Given the description of an element on the screen output the (x, y) to click on. 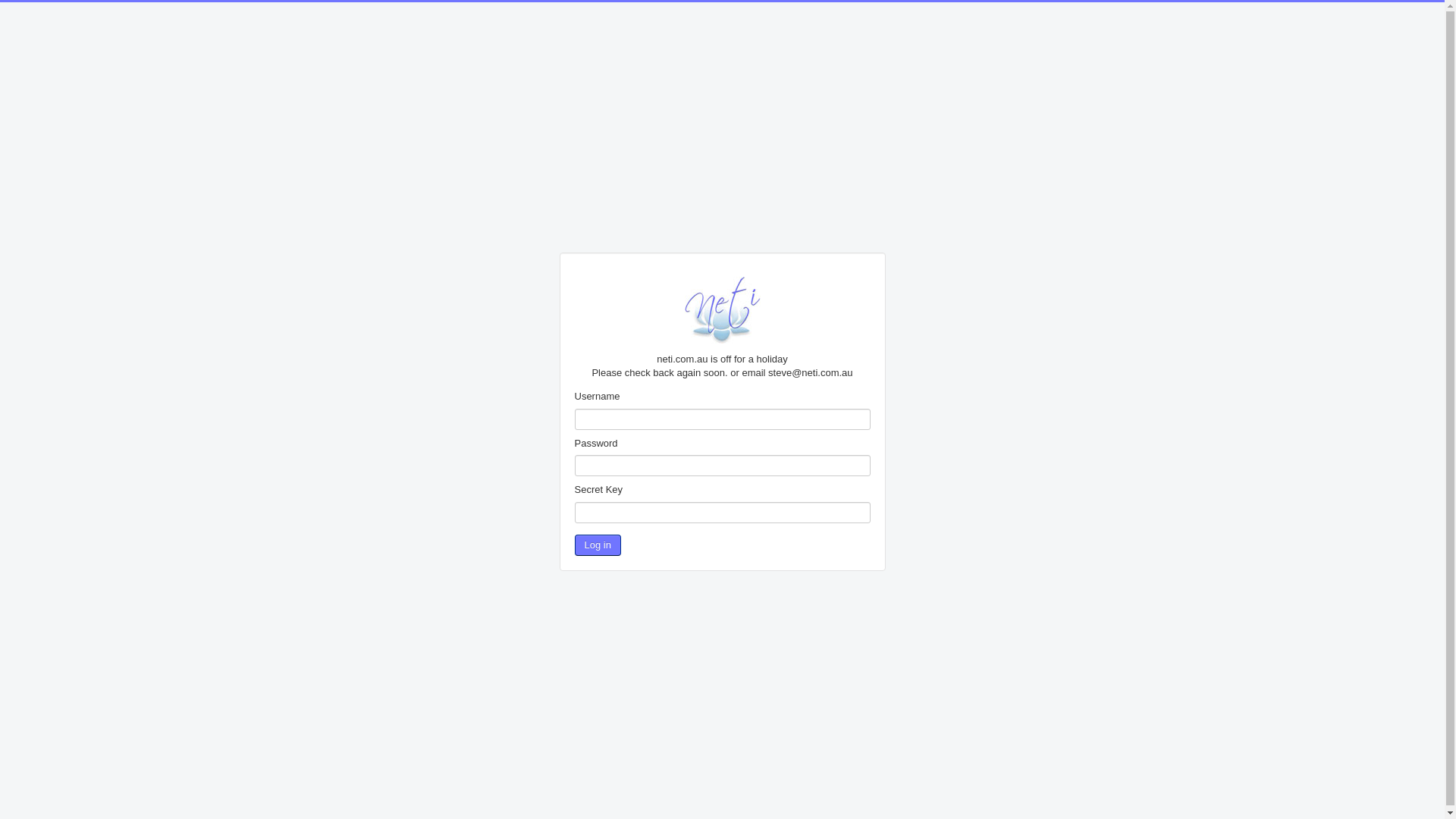
Log in Element type: text (597, 544)
Password Element type: hover (722, 465)
Username Element type: hover (722, 418)
Secret Key Element type: hover (722, 512)
